Given the description of an element on the screen output the (x, y) to click on. 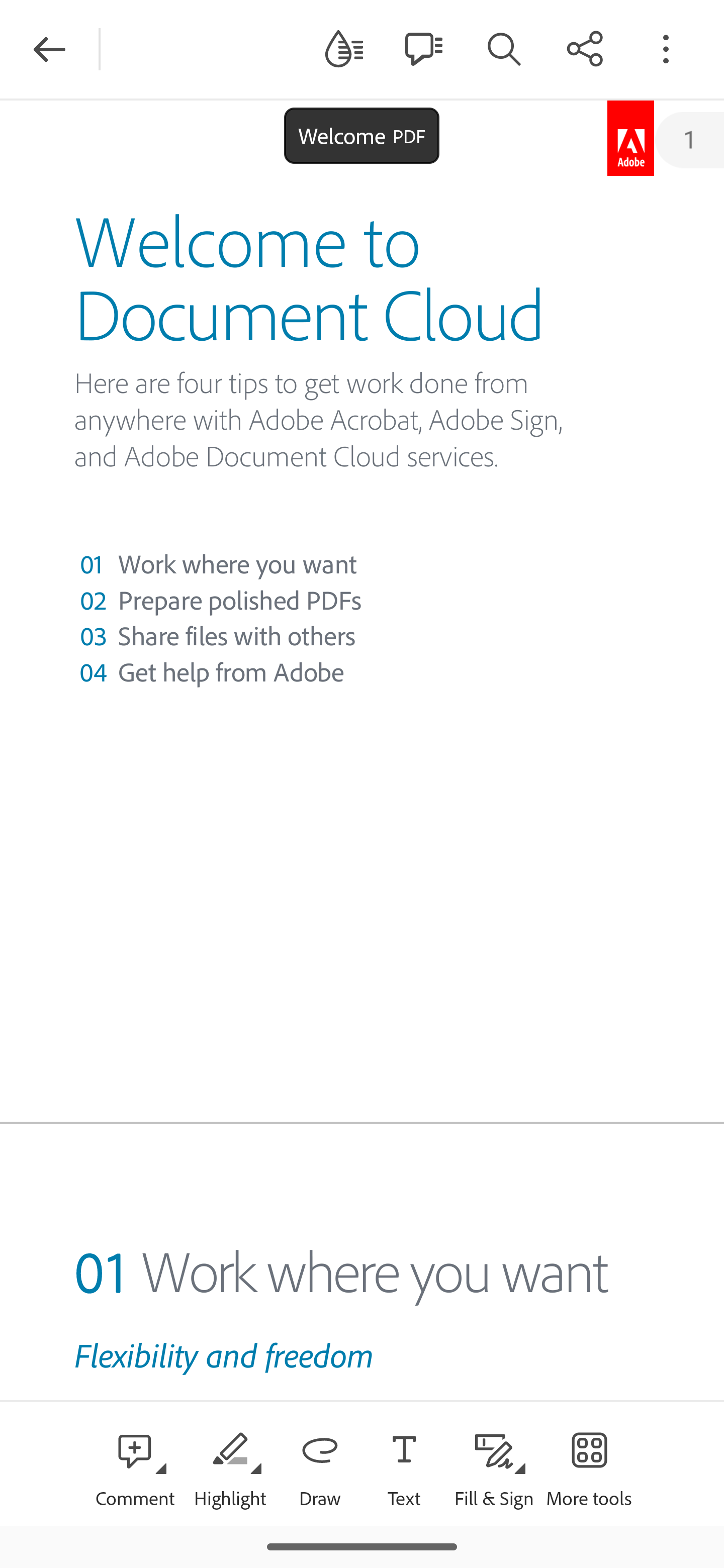
Back (49, 49)
Turn on Liquid Mode (343, 48)
Find keyword in document (503, 48)
Share this document with others (584, 48)
More options (665, 48)
Comments (423, 48)
Comment (134, 1463)
Highlight (229, 1463)
Draw (319, 1463)
Text (404, 1463)
Fill & Sign (493, 1463)
More tools (588, 1463)
